Given the description of an element on the screen output the (x, y) to click on. 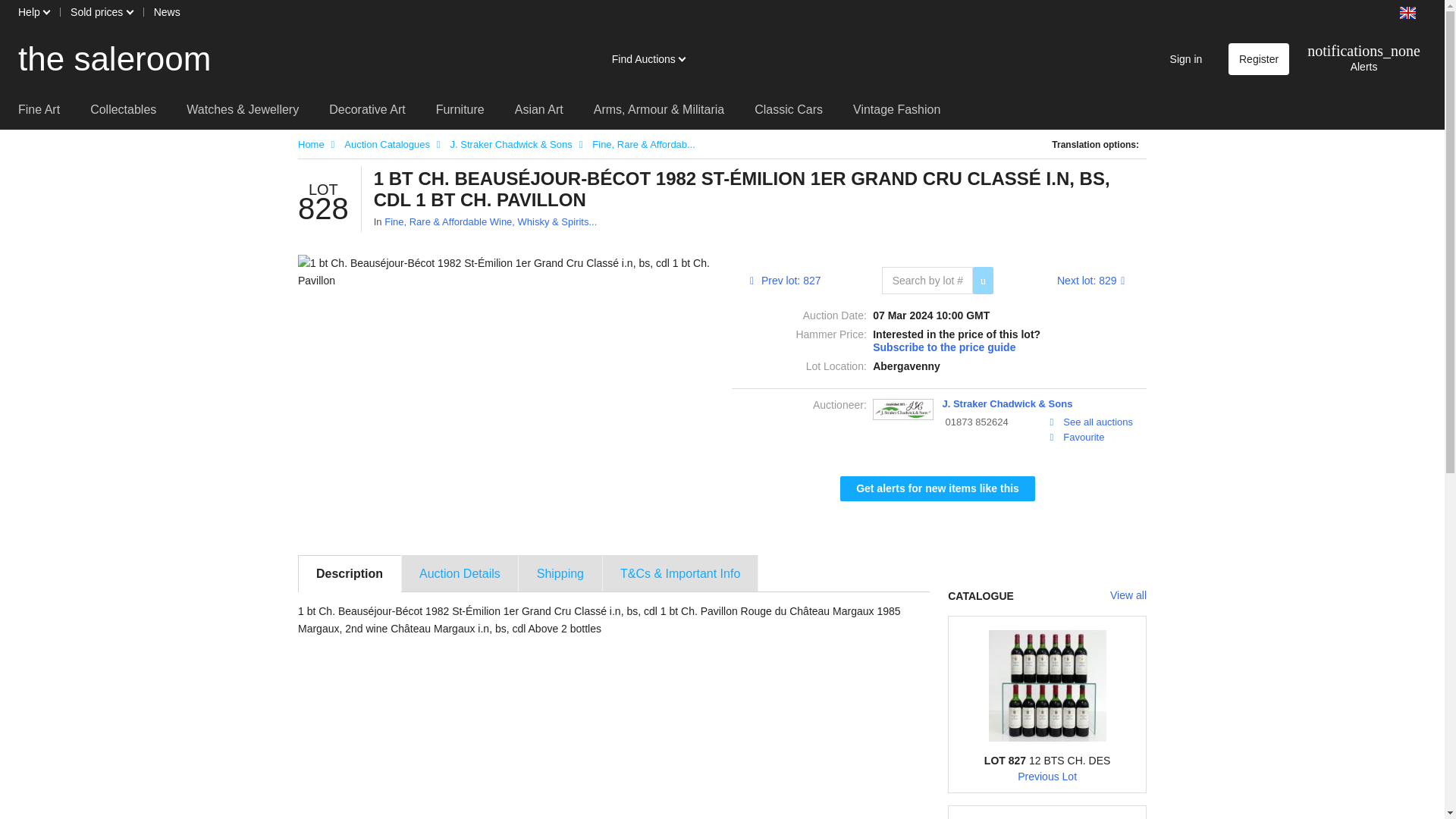
Sold prices (100, 12)
Help (33, 12)
News (166, 12)
